Given the description of an element on the screen output the (x, y) to click on. 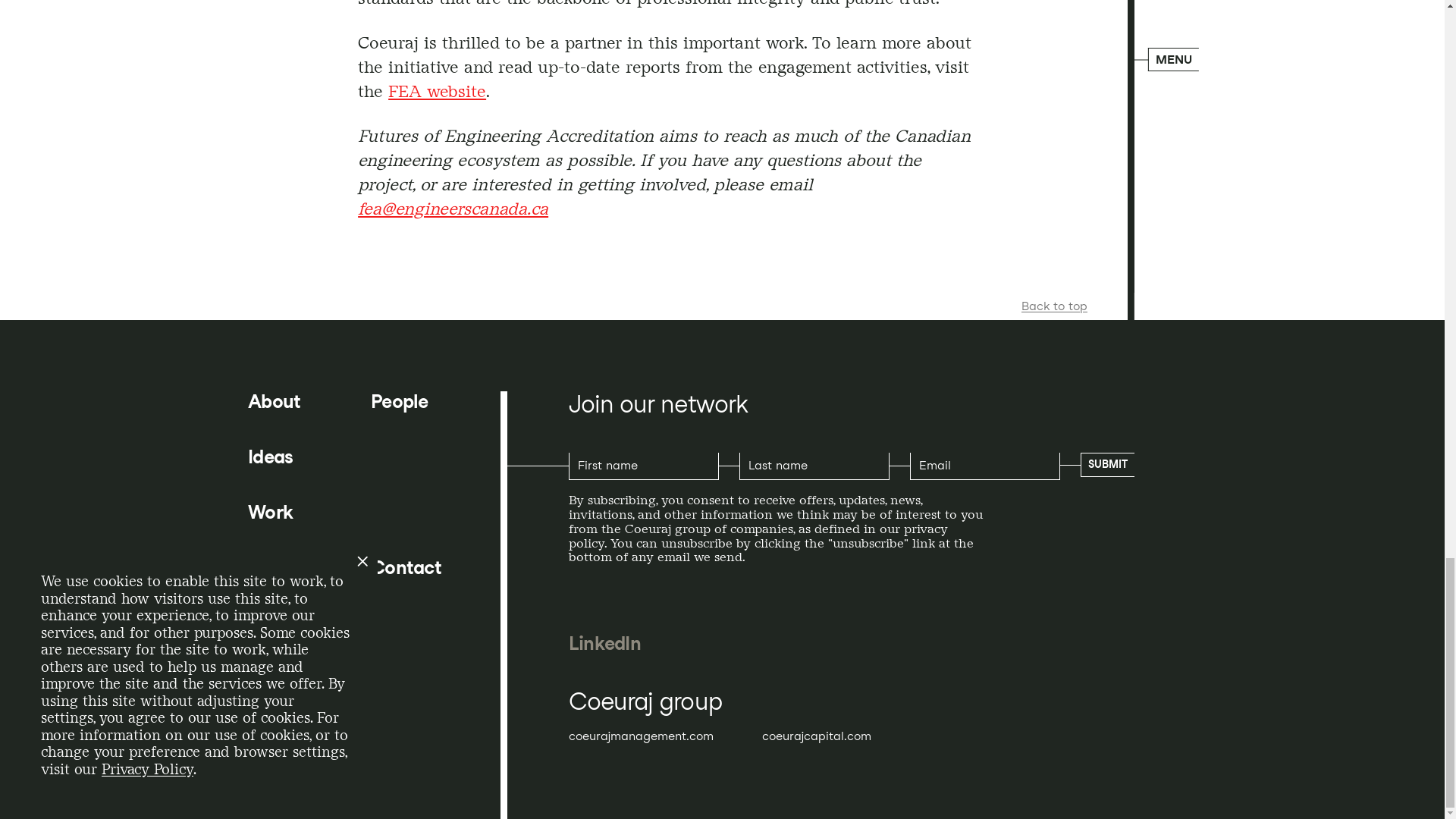
Ideas (269, 456)
Privacy Policy (298, 633)
Work (269, 512)
coeurajcapital.com (815, 736)
People (399, 401)
SUBMIT (1106, 463)
LinkedIn (604, 643)
Contact (406, 567)
Back to top (1054, 306)
LinkedIn (604, 643)
